Given the description of an element on the screen output the (x, y) to click on. 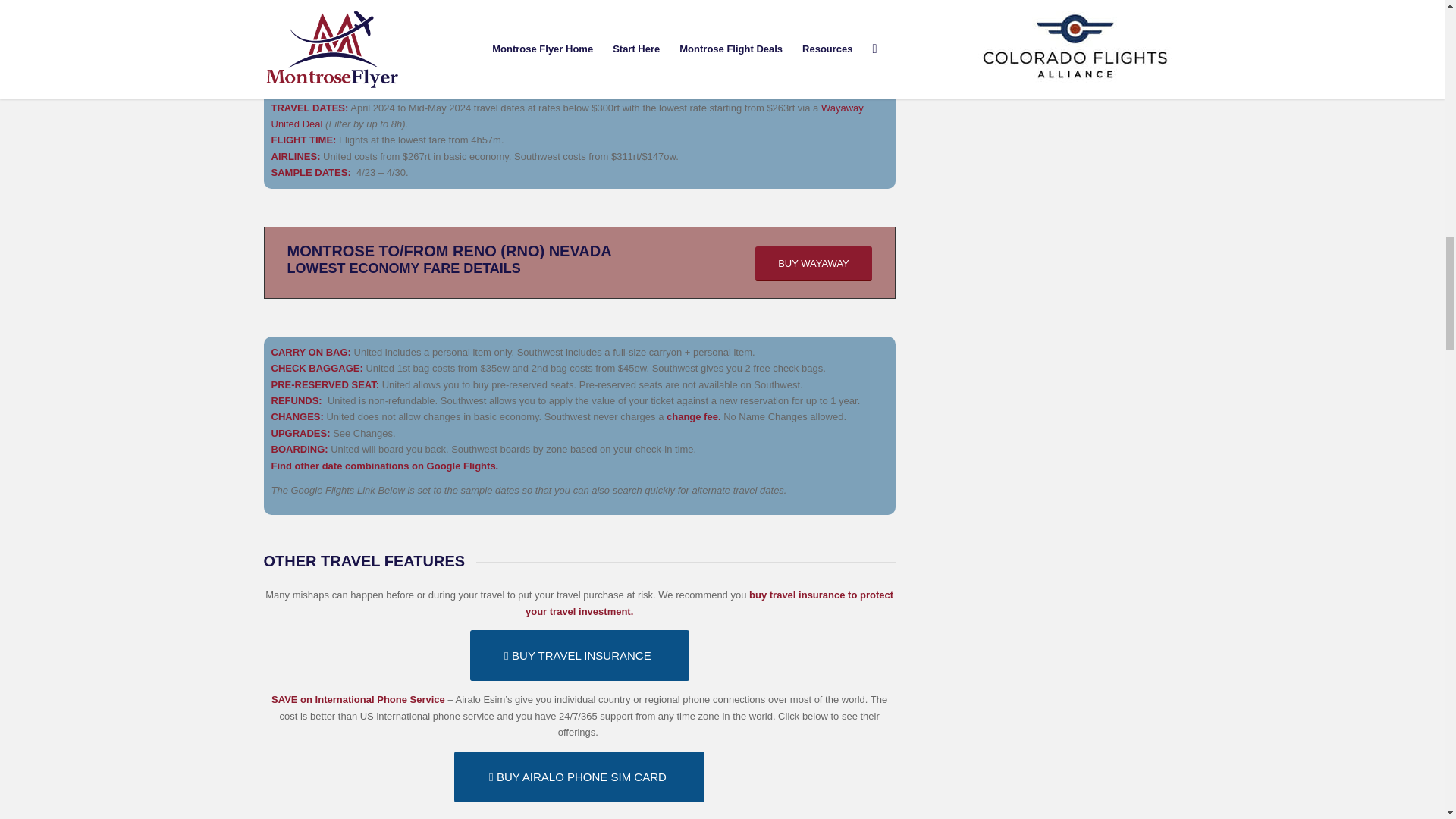
Wayaway United Deal (566, 114)
BUY TRAVEL INSURANCE (579, 654)
BUY WAYAWAY (813, 263)
BUY WAYAWAY (813, 10)
BUY AIRALO PHONE SIM CARD (578, 776)
